Given the description of an element on the screen output the (x, y) to click on. 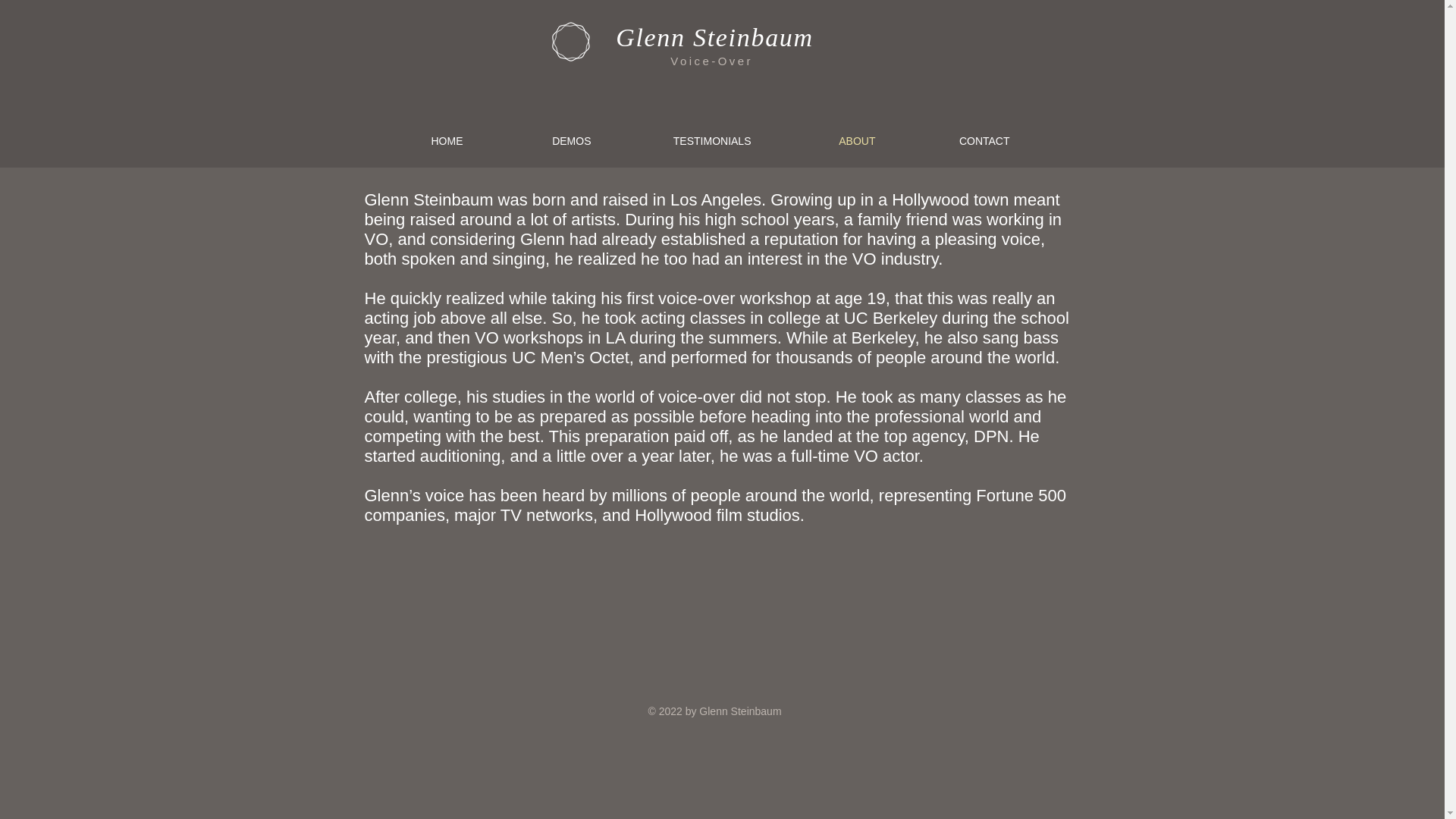
ABOUT (823, 140)
CONTACT (952, 140)
Glenn Steinbaum (714, 37)
HOME (410, 140)
Voice-Over  (713, 60)
TESTIMONIALS (679, 140)
DEMOS (537, 140)
